Given the description of an element on the screen output the (x, y) to click on. 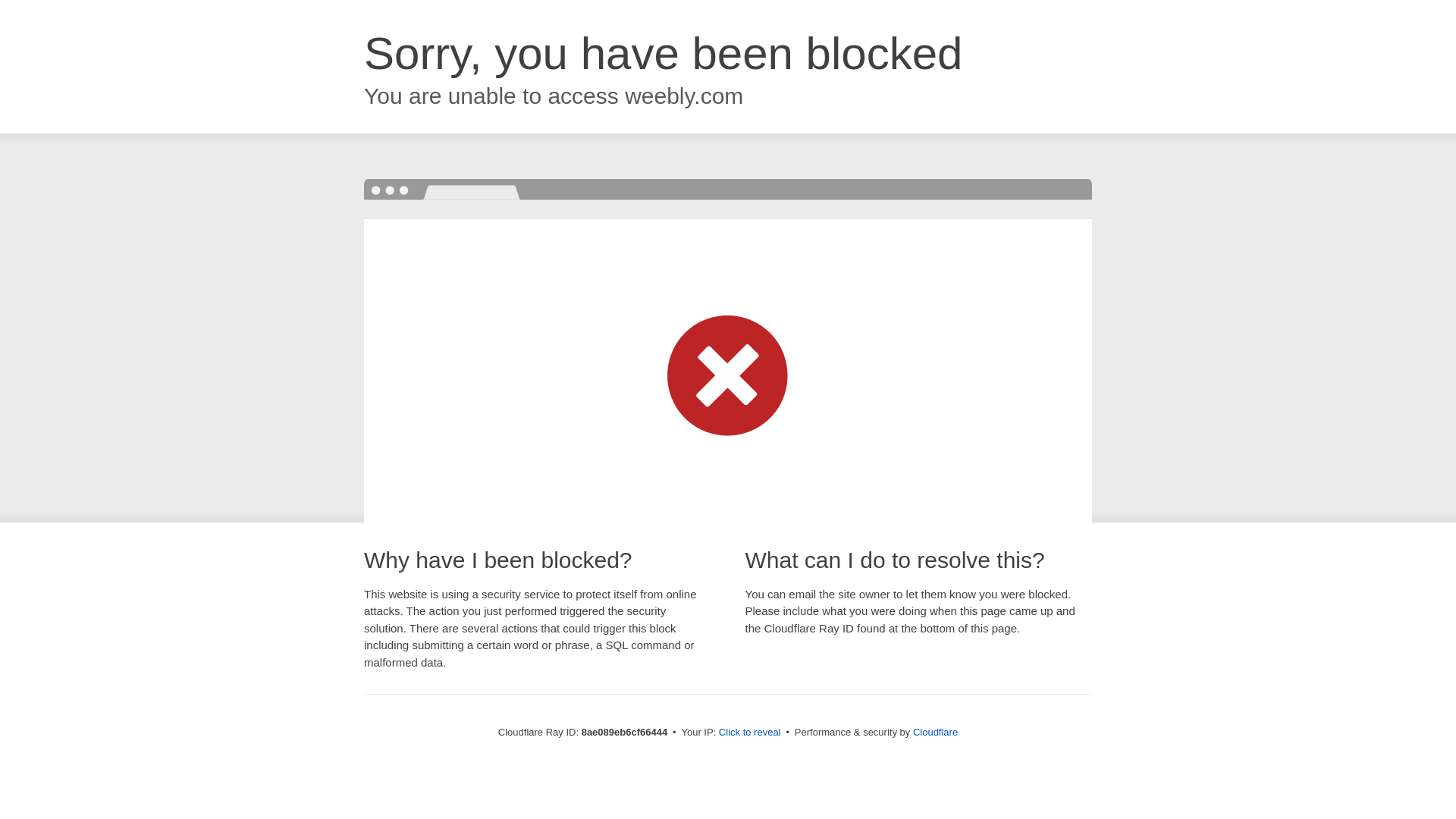
Cloudflare (935, 731)
Click to reveal (749, 732)
